Given the description of an element on the screen output the (x, y) to click on. 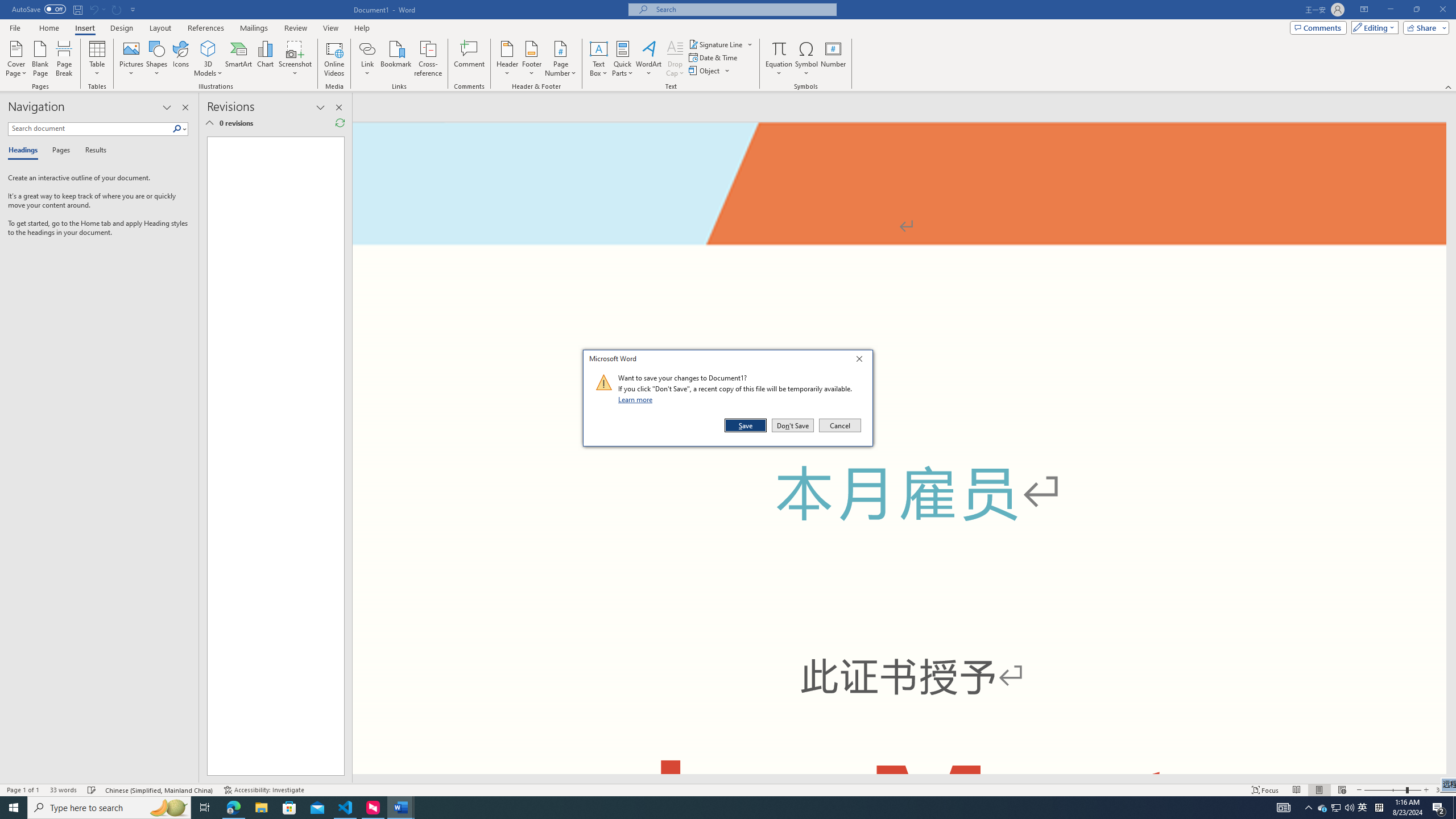
Microsoft Edge - 1 running window (233, 807)
Refresh Reviewing Pane (339, 122)
Chart... (265, 58)
Pages (59, 150)
Spelling and Grammar Check Checking (1335, 807)
Language Chinese (Simplified, Mainland China) (91, 790)
Link (159, 790)
Pictures (367, 48)
Mode (131, 58)
